Given the description of an element on the screen output the (x, y) to click on. 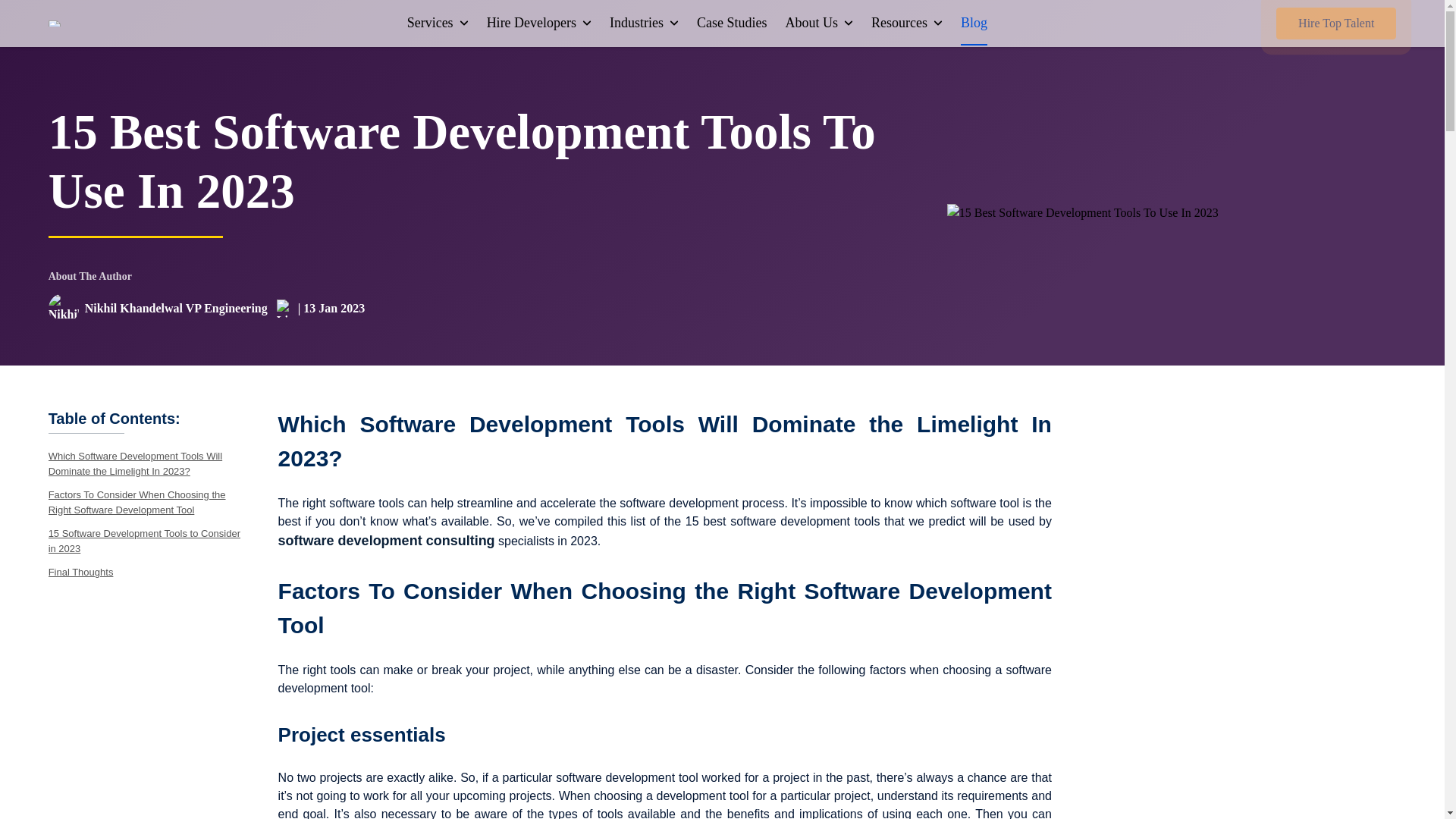
Hire Developers (538, 23)
Services (437, 23)
